Given the description of an element on the screen output the (x, y) to click on. 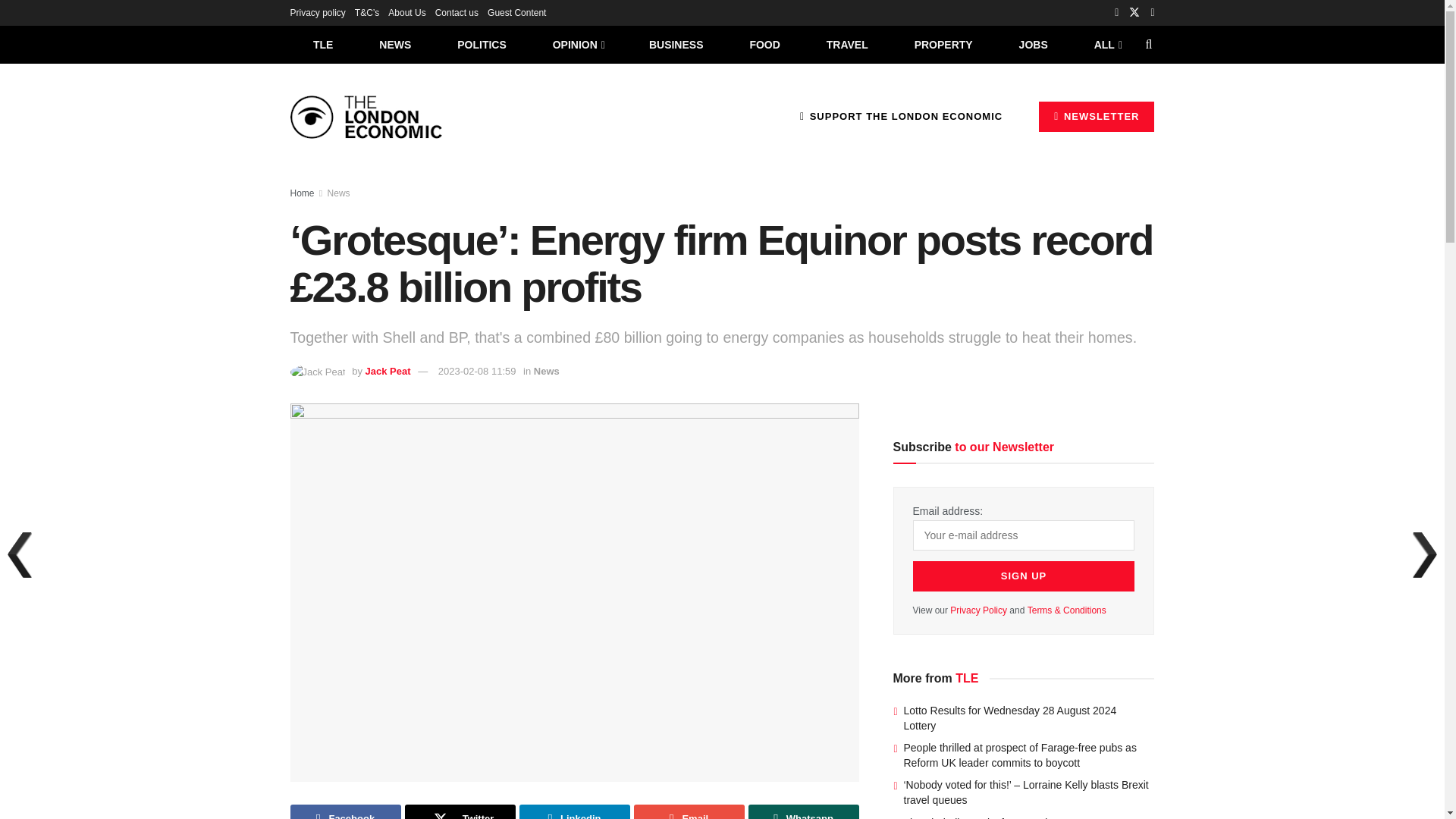
Sign up (1023, 576)
FOOD (764, 44)
OPINION (577, 44)
PROPERTY (943, 44)
Guest Content (516, 12)
SUPPORT THE LONDON ECONOMIC (900, 116)
TRAVEL (847, 44)
Contact us (457, 12)
BUSINESS (676, 44)
JOBS (1032, 44)
